Given the description of an element on the screen output the (x, y) to click on. 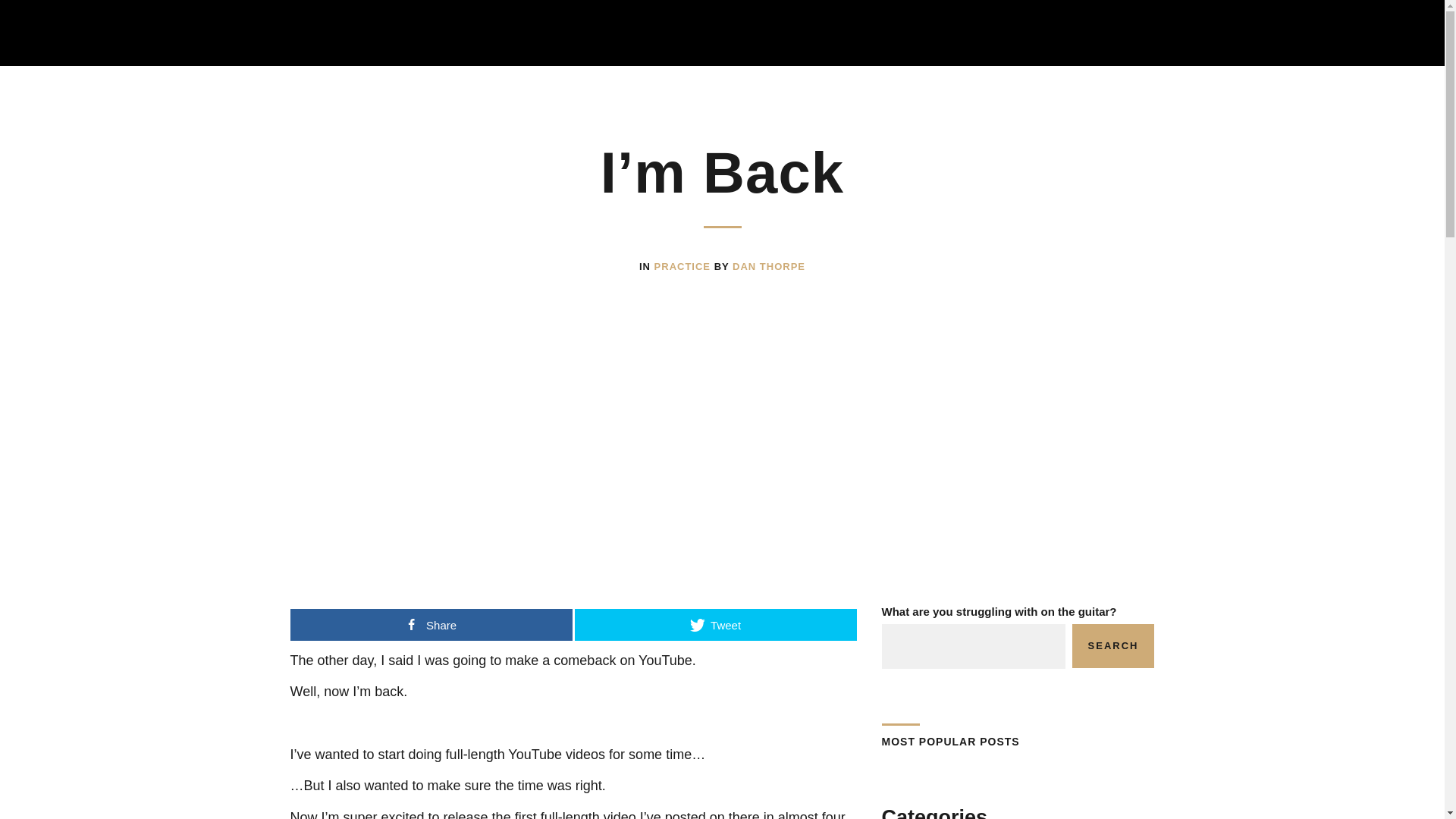
PRACTICE (683, 266)
Dan Thorpe (768, 266)
DAN THORPE (768, 266)
Tweet (716, 624)
i'mback (721, 458)
SEARCH (1112, 646)
Share (430, 624)
View all posts in: Practice (683, 266)
